Given the description of an element on the screen output the (x, y) to click on. 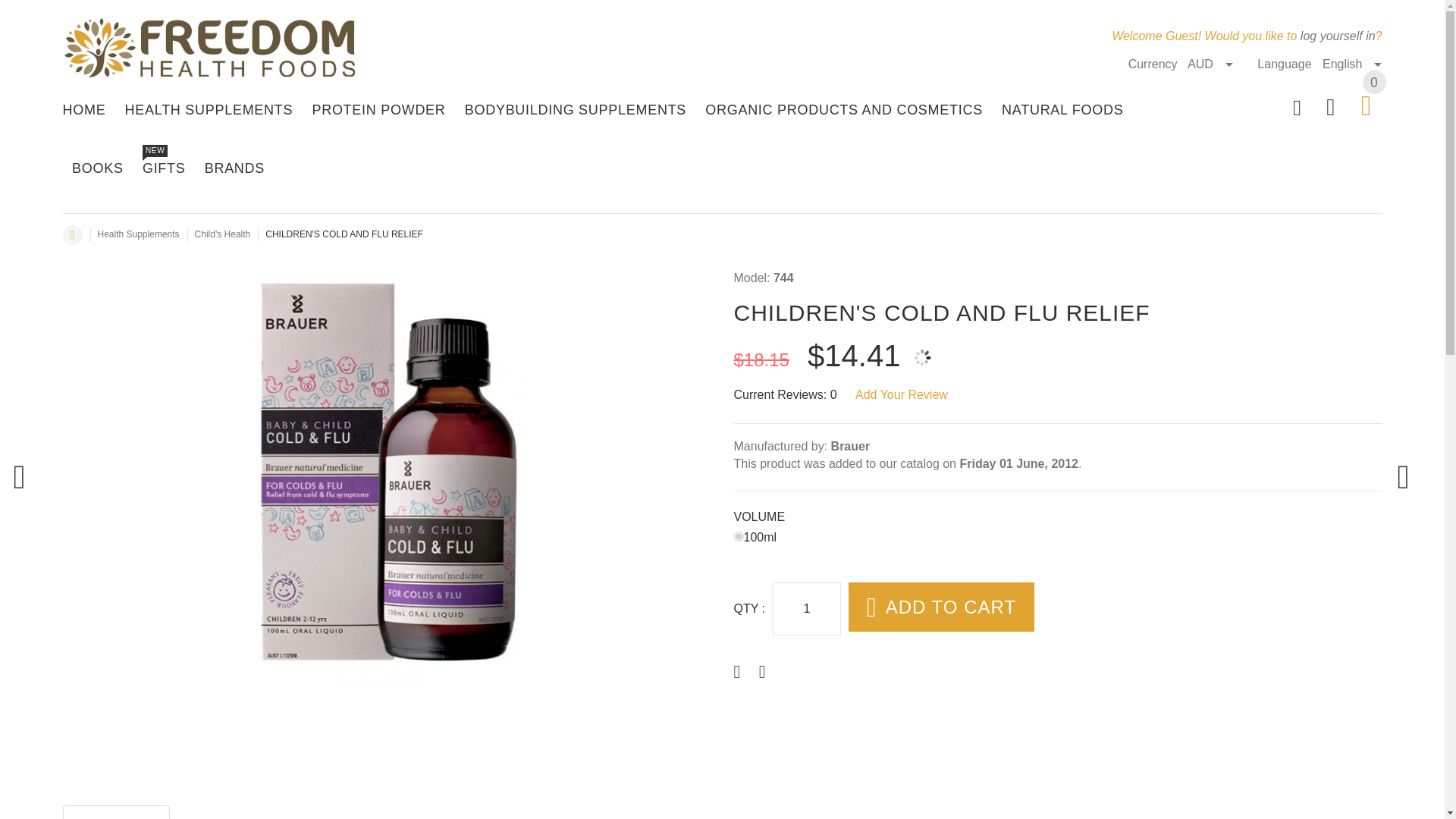
1 (807, 608)
173 (738, 536)
Add to Cart (950, 607)
